Given the description of an element on the screen output the (x, y) to click on. 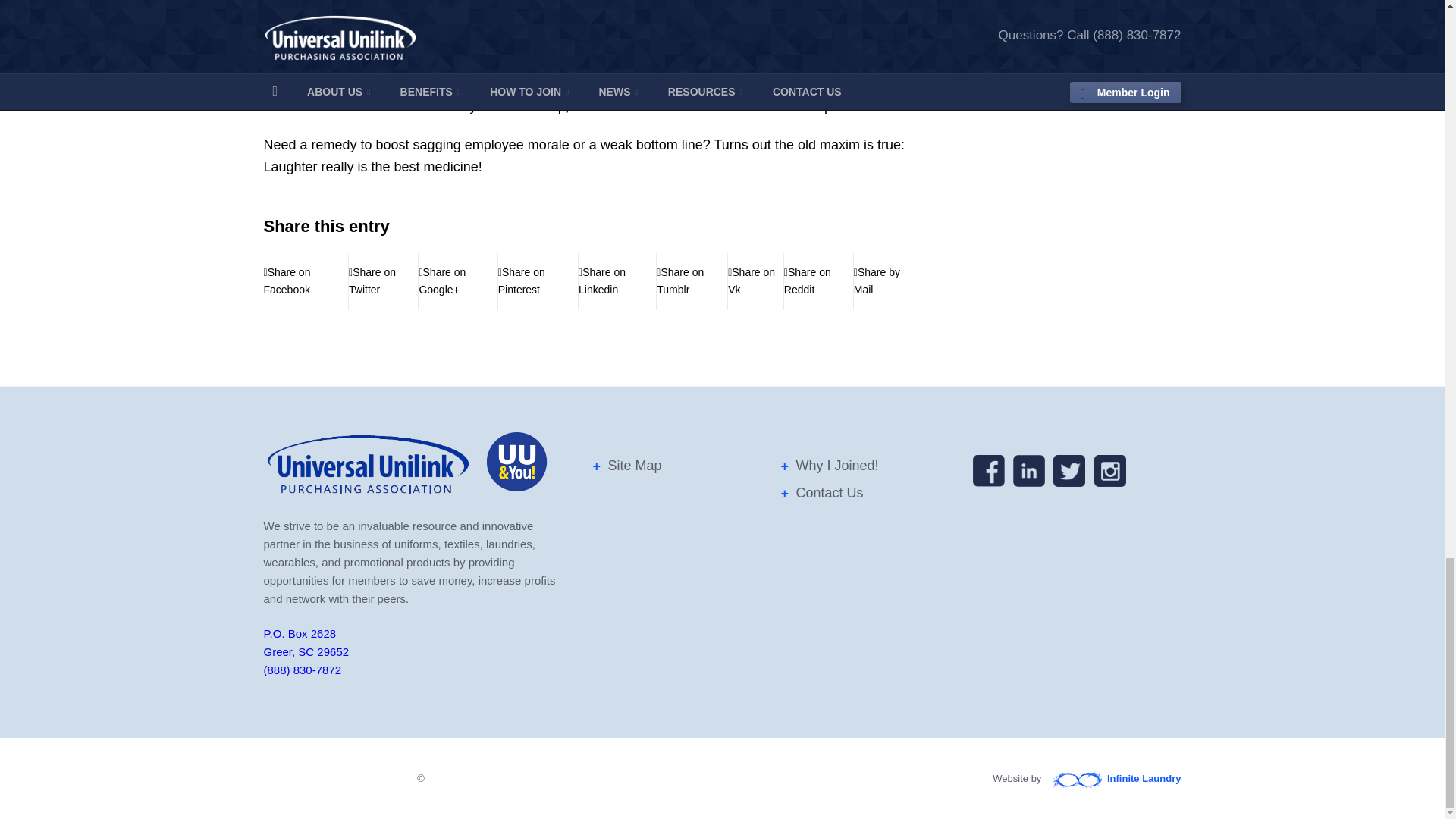
Share on Pinterest (537, 281)
Share on Linkedin (617, 281)
Share by Mail (883, 281)
Share on Facebook (306, 281)
Share on Vk (755, 281)
Share on Twitter (383, 281)
Share on Tumblr (691, 281)
Share on Reddit (818, 281)
